Given the description of an element on the screen output the (x, y) to click on. 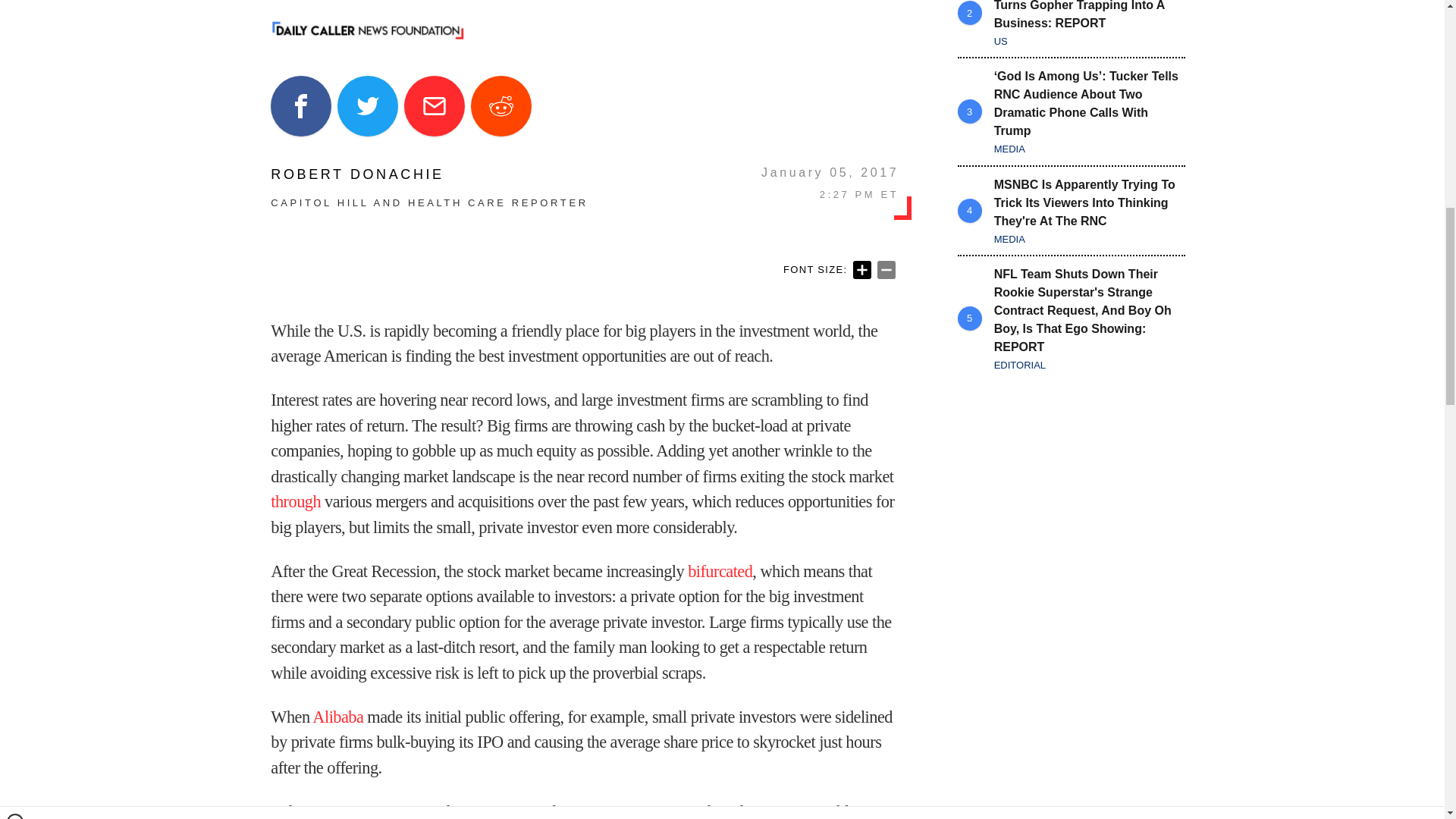
through (295, 501)
Close window (14, 6)
View More Articles By Robert Donachie (429, 174)
ROBERT DONACHIE (429, 174)
